Given the description of an element on the screen output the (x, y) to click on. 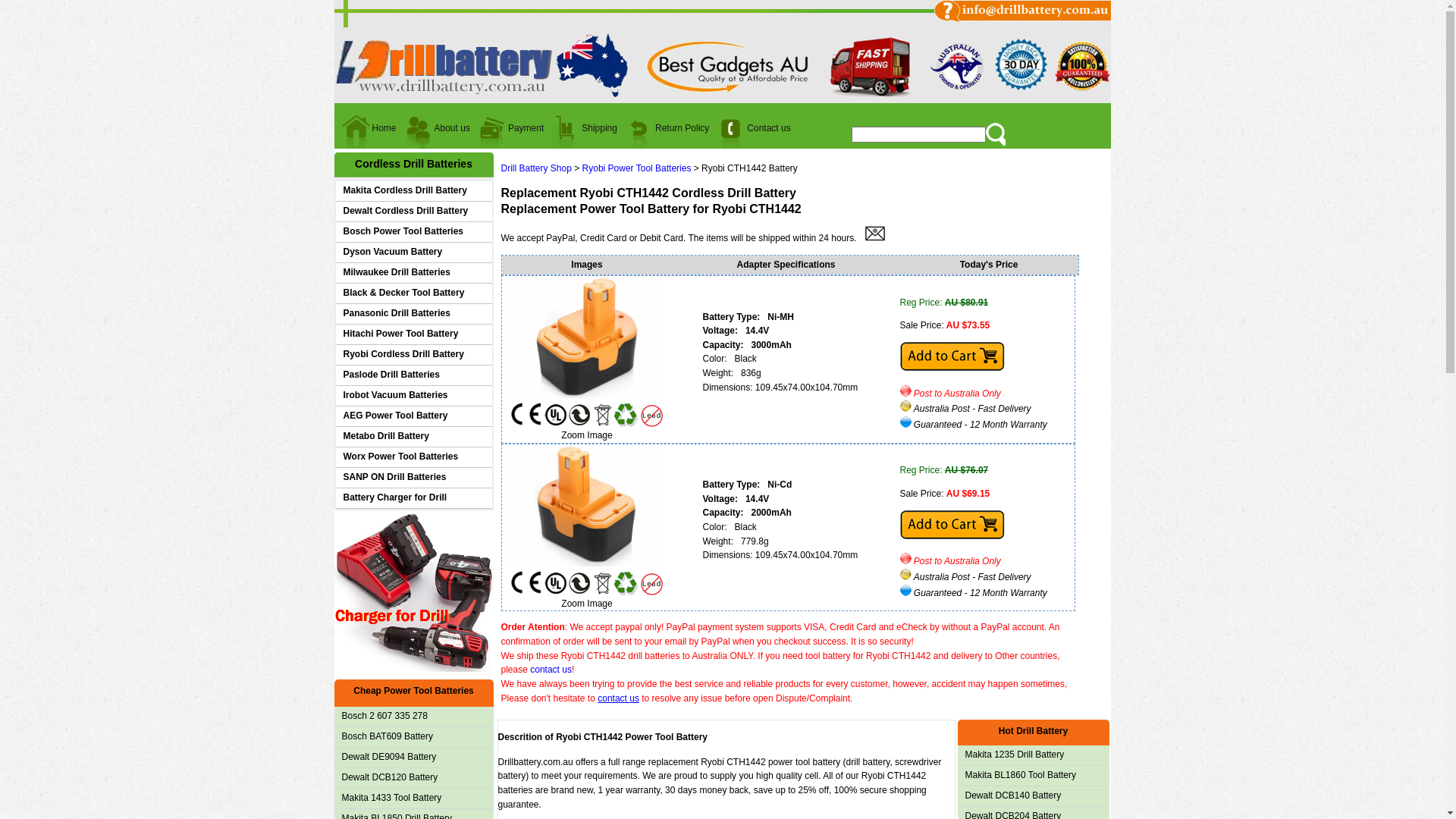
Dewalt DCB120 Battery Element type: text (412, 777)
Bosch BAT609 Battery Element type: text (412, 736)
Irobot Vacuum Batteries Element type: text (413, 395)
Milwaukee Drill Batteries Element type: text (413, 272)
Paslode Drill Batteries Element type: text (413, 375)
About us Element type: text (437, 134)
Worx Power Tool Batteries Element type: text (413, 457)
Bosch Power Tool Batteries Element type: text (413, 231)
SANP ON Drill Batteries Element type: text (413, 477)
Ryobi Power Tool Batteries Element type: text (636, 168)
Makita Cordless Drill Battery Element type: text (413, 190)
Payment Element type: text (510, 134)
Ryobi Cordless Drill Battery Element type: text (413, 354)
Makita 1433 Tool Battery Element type: text (412, 798)
Dewalt DCB140 Battery Element type: text (1032, 796)
Home Element type: text (368, 134)
Hitachi Power Tool Battery Element type: text (413, 334)
Black & Decker Tool Battery Element type: text (413, 293)
Shipping Element type: text (584, 134)
contact us Element type: text (618, 698)
Panasonic Drill Batteries Element type: text (413, 313)
Dewalt Cordless Drill Battery Element type: text (413, 211)
Bosch 2 607 335 278 Element type: text (412, 716)
Drill Battery Shop Element type: text (535, 168)
Makita 1235 Drill Battery Element type: text (1032, 755)
contact us Element type: text (550, 669)
Dyson Vacuum Battery Element type: text (413, 252)
Contact us Element type: text (753, 134)
Makita BL1860 Tool Battery Element type: text (1032, 775)
Return Policy Element type: text (666, 134)
AEG Power Tool Battery Element type: text (413, 416)
Metabo Drill Battery Element type: text (413, 436)
Battery Charger for Drill Element type: text (413, 498)
Dewalt DE9094 Battery Element type: text (412, 757)
